Given the description of an element on the screen output the (x, y) to click on. 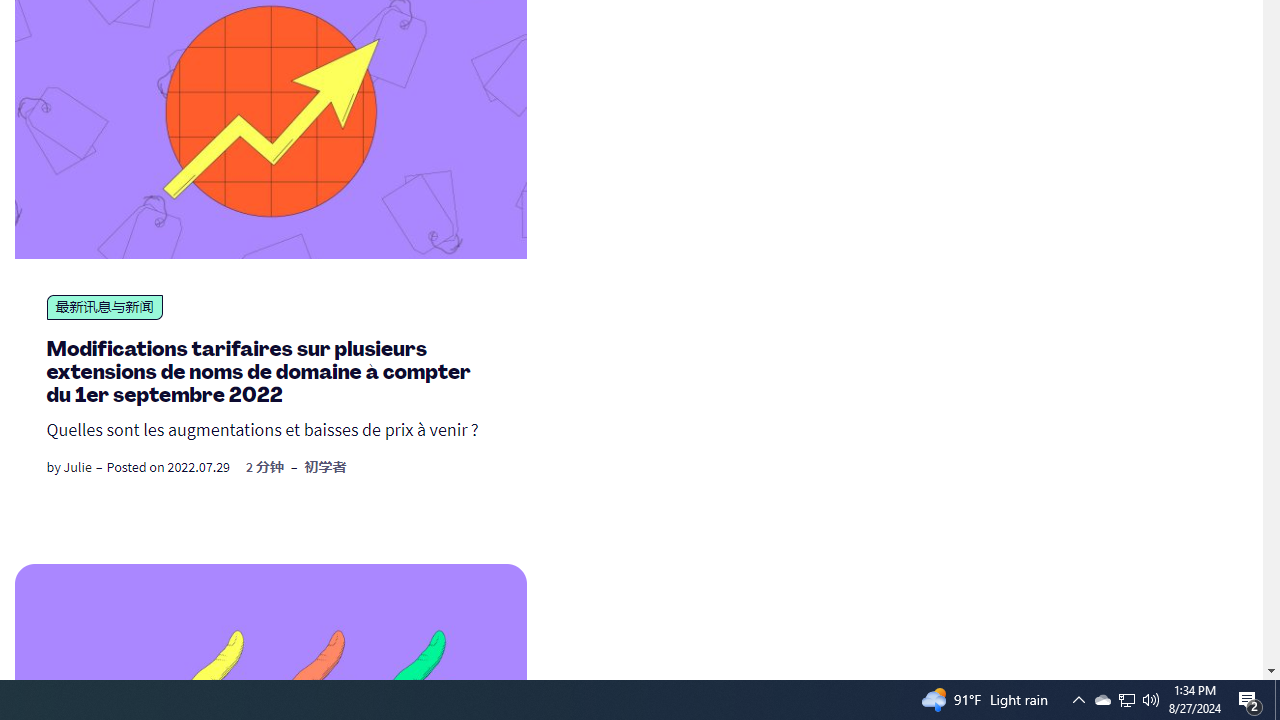
Julie (77, 466)
